Given the description of an element on the screen output the (x, y) to click on. 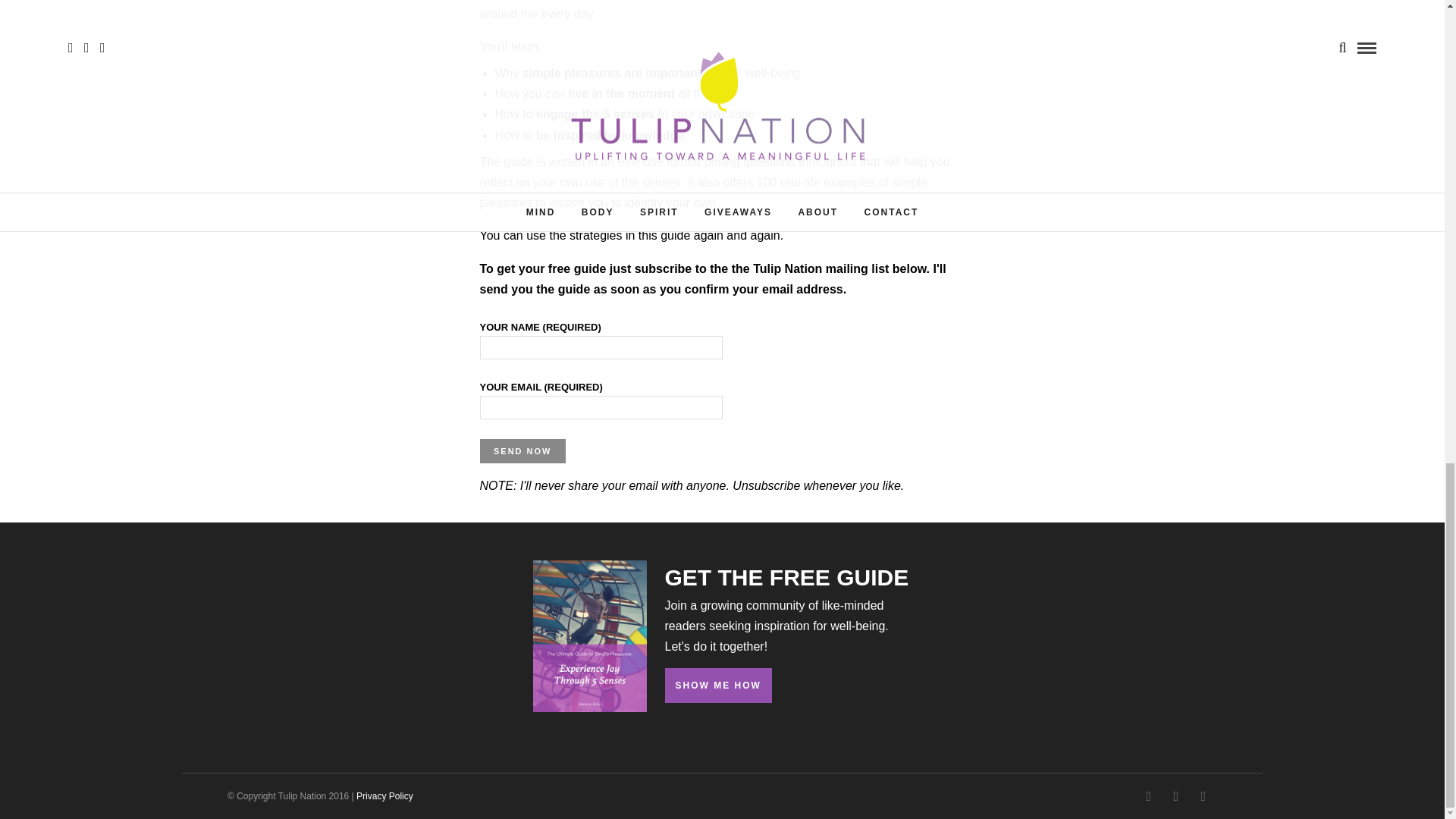
SHOW ME HOW (717, 685)
Send Now (522, 450)
Send Now (522, 450)
Privacy Policy (384, 796)
